Given the description of an element on the screen output the (x, y) to click on. 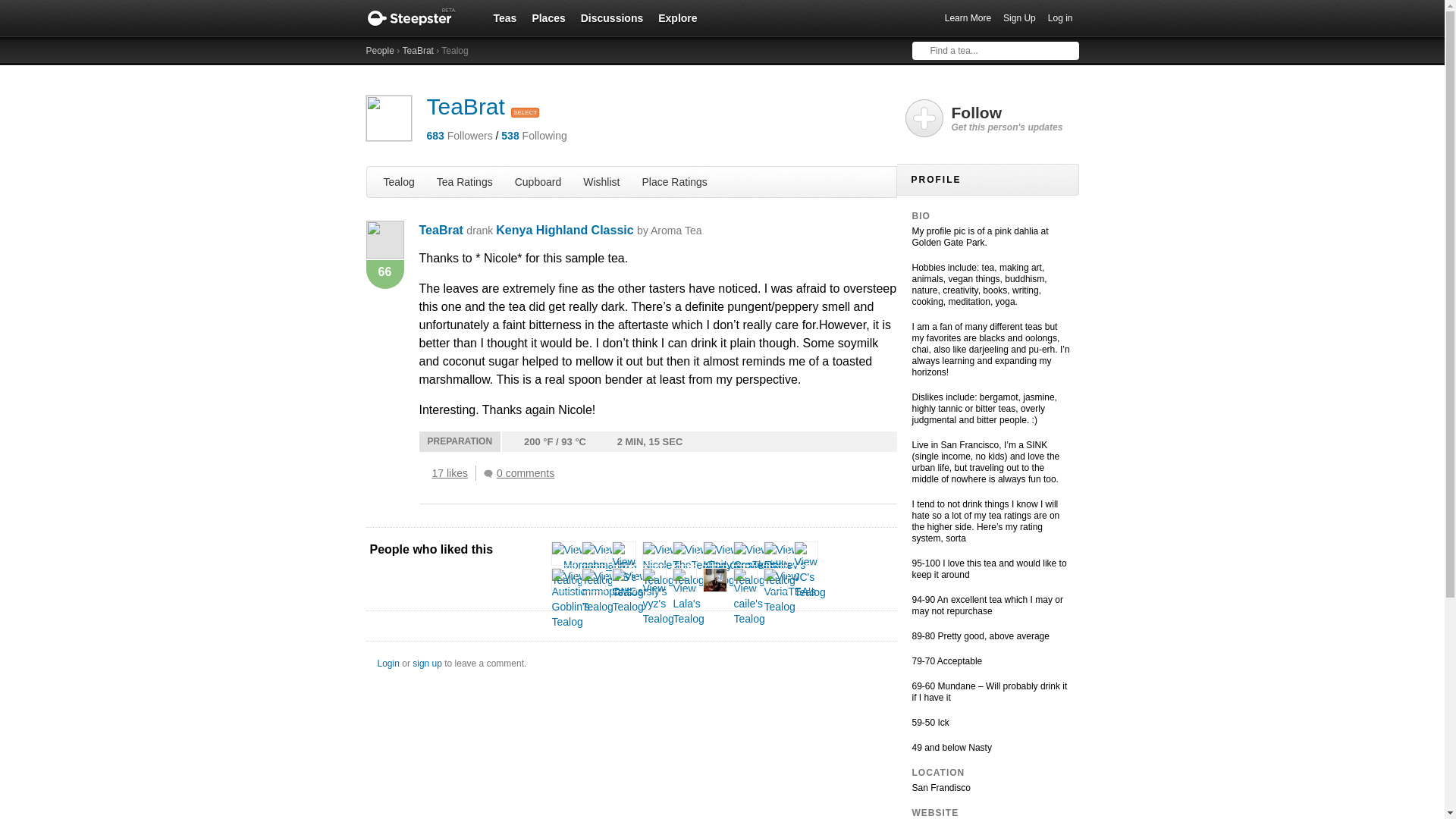
Log in (1060, 18)
17 likes (454, 473)
View Crowkettle's Tealog (762, 565)
I Like This (423, 472)
Discussions (612, 17)
Explore (677, 17)
Sign Up (1019, 18)
View KittyLovesTea's Tealog (740, 565)
0 comments (522, 473)
Teas (504, 17)
